Given the description of an element on the screen output the (x, y) to click on. 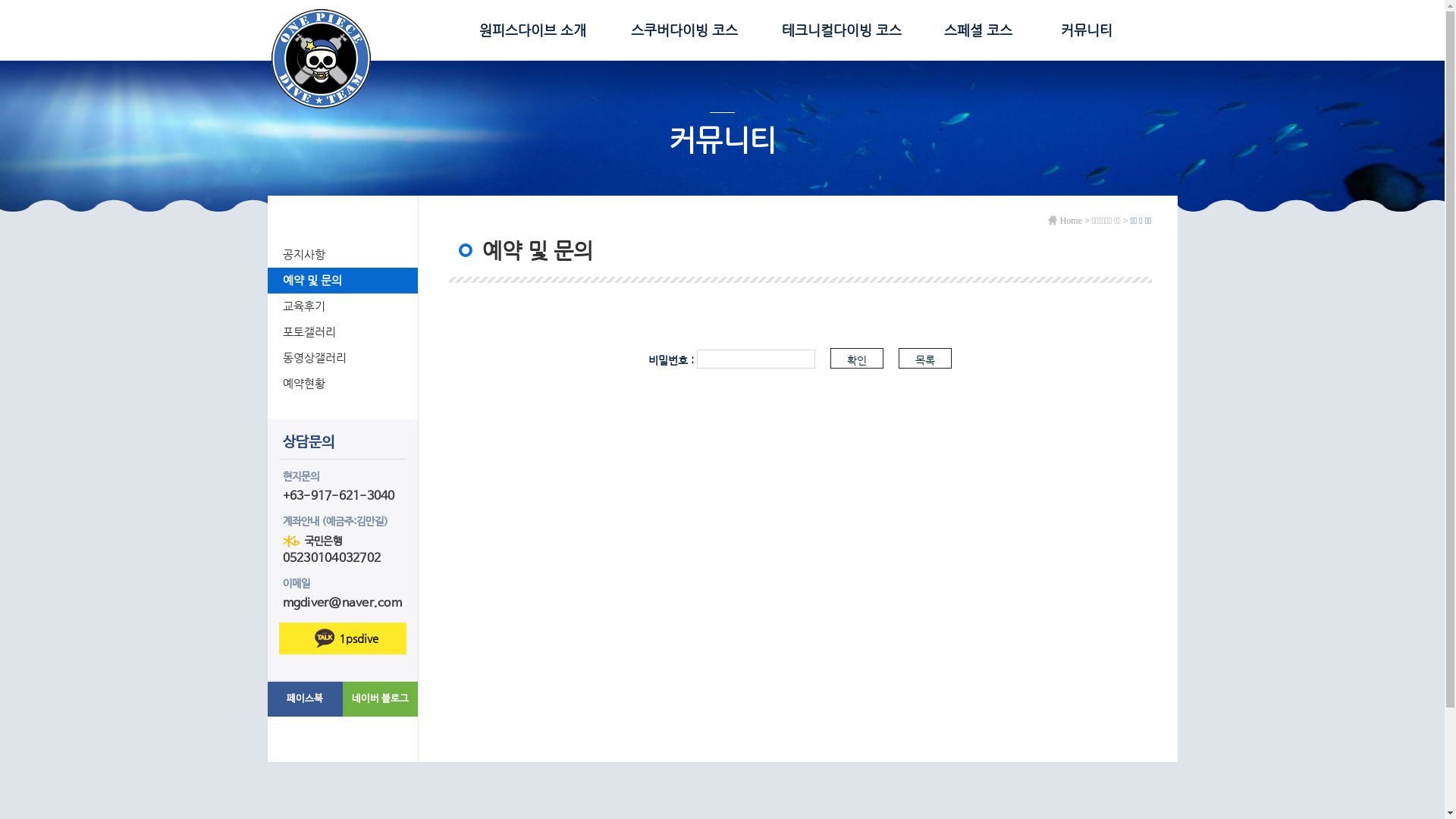
Home Element type: text (1064, 220)
